Given the description of an element on the screen output the (x, y) to click on. 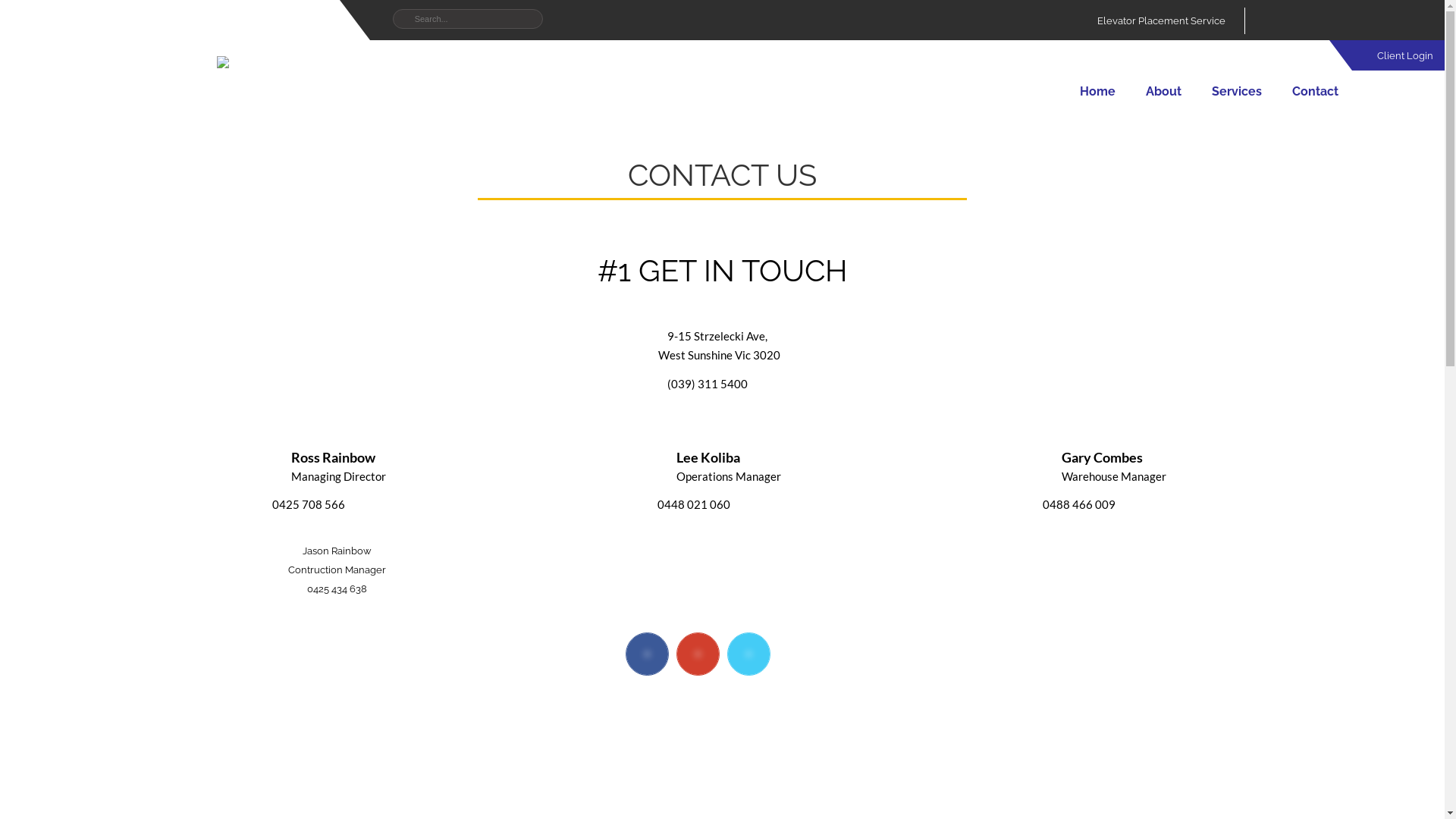
Elevator Placement Service Element type: text (1161, 20)
Services Element type: text (1236, 90)
Client Login Element type: text (1393, 55)
Contact Element type: text (1315, 90)
Home Element type: text (1097, 90)
About Element type: text (1163, 90)
